Given the description of an element on the screen output the (x, y) to click on. 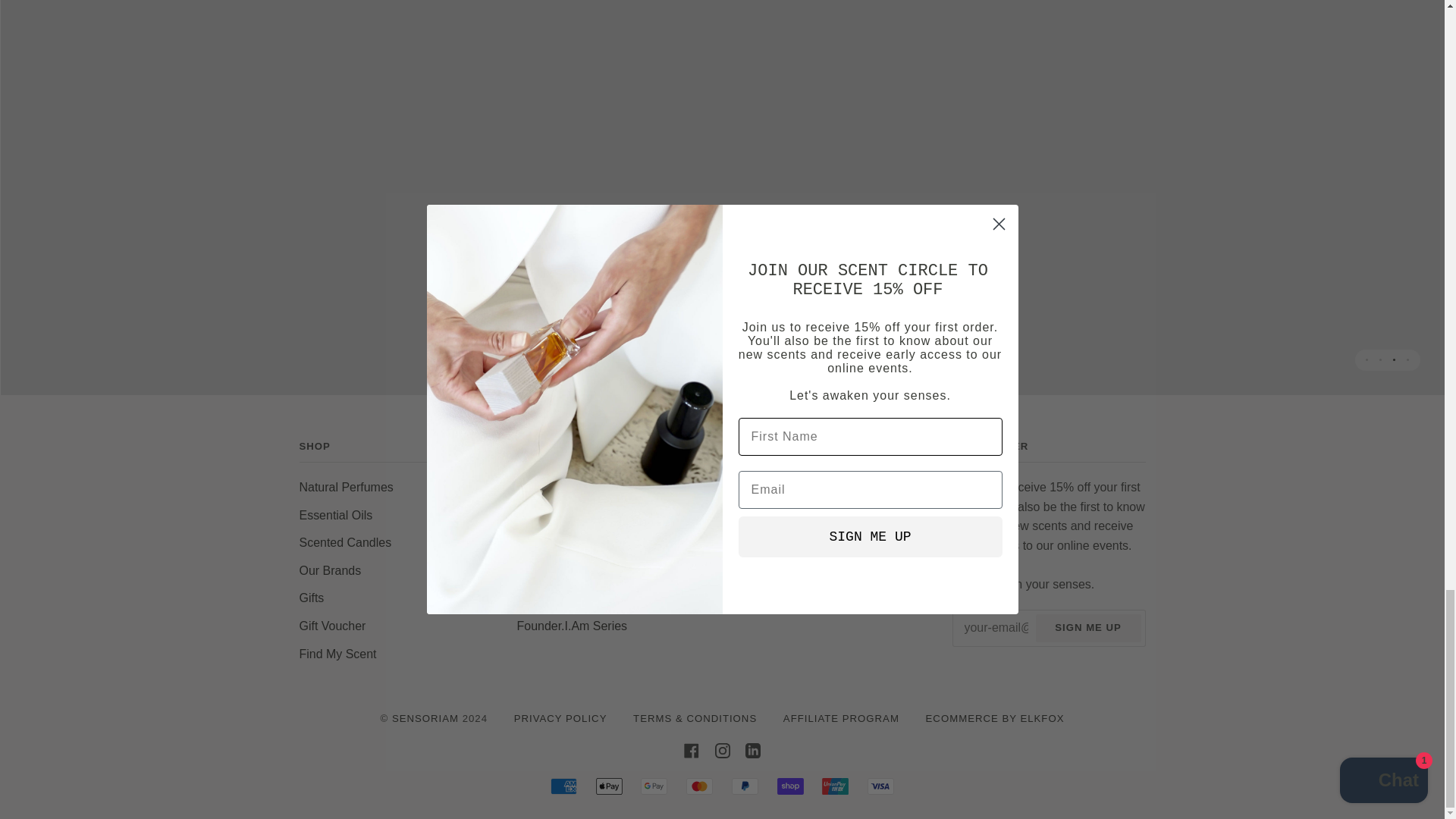
GOOGLE PAY (653, 786)
Professional enterprise eCommerce by Elkfox (995, 717)
Facebook (691, 749)
APPLE PAY (609, 786)
AMERICAN EXPRESS (563, 786)
Linkedin (752, 749)
Instagram (721, 749)
